Given the description of an element on the screen output the (x, y) to click on. 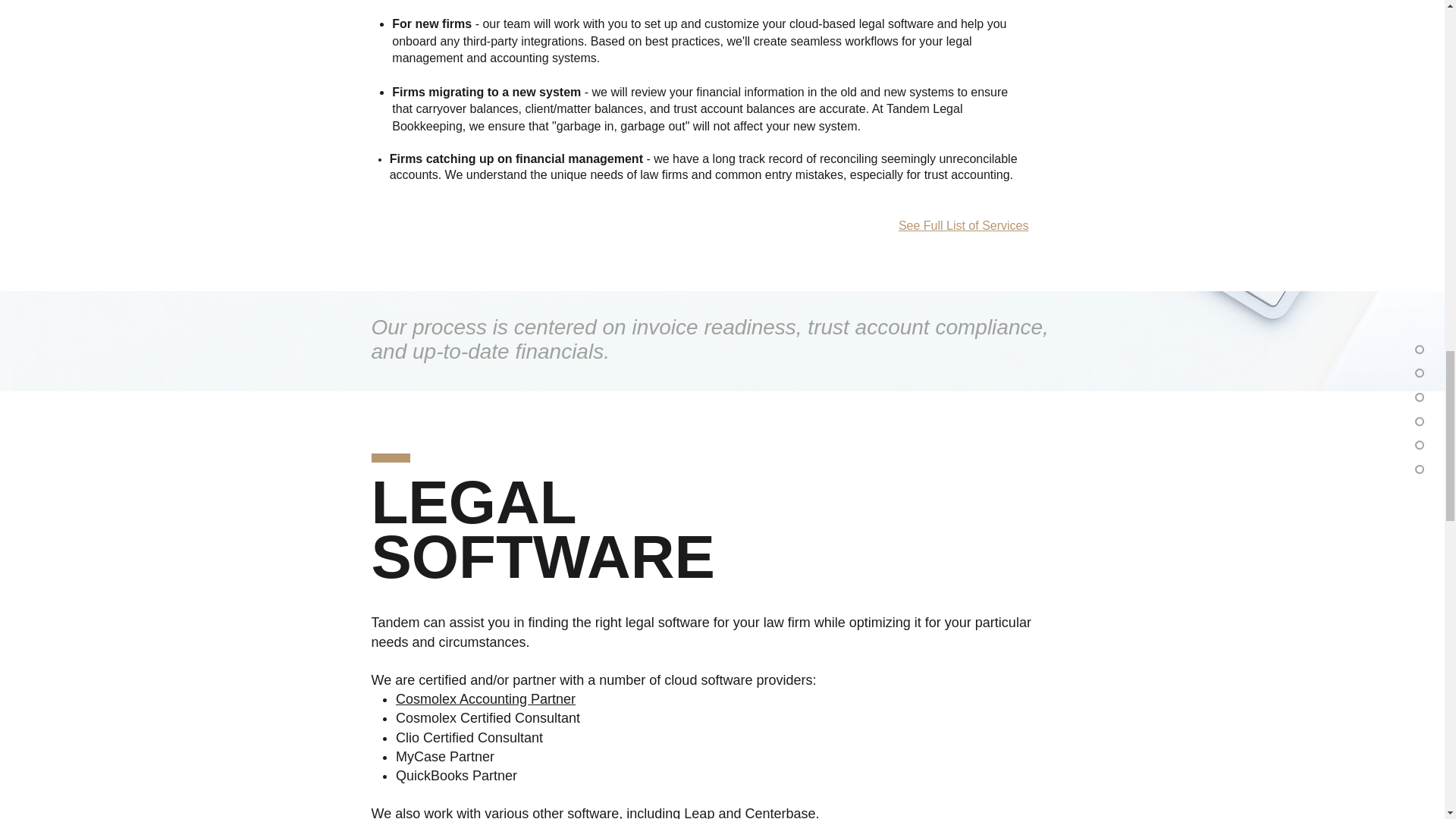
Cosmolex Accounting Partner (485, 698)
See Full List of Services (963, 225)
